Given the description of an element on the screen output the (x, y) to click on. 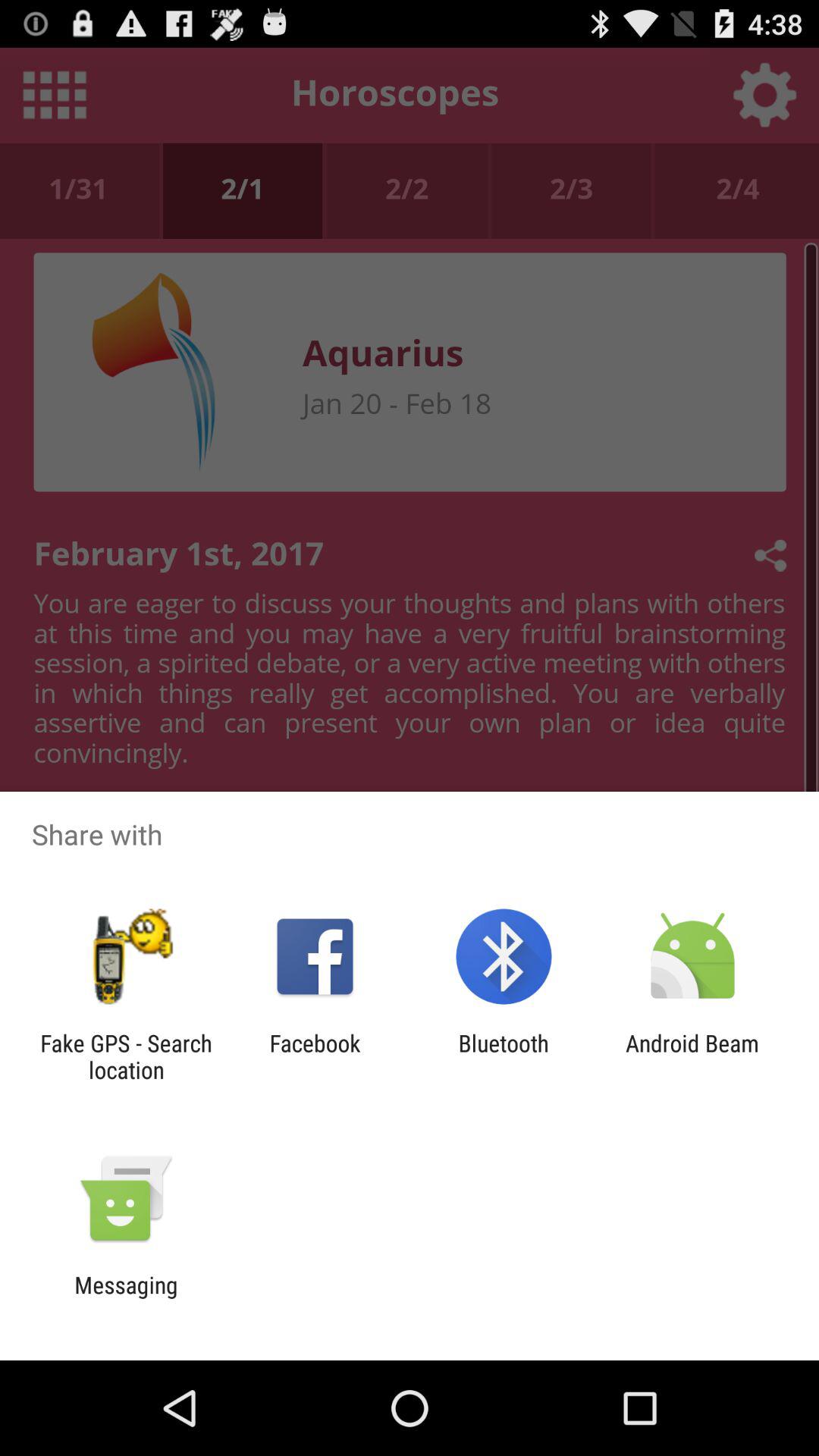
tap fake gps search icon (125, 1056)
